Given the description of an element on the screen output the (x, y) to click on. 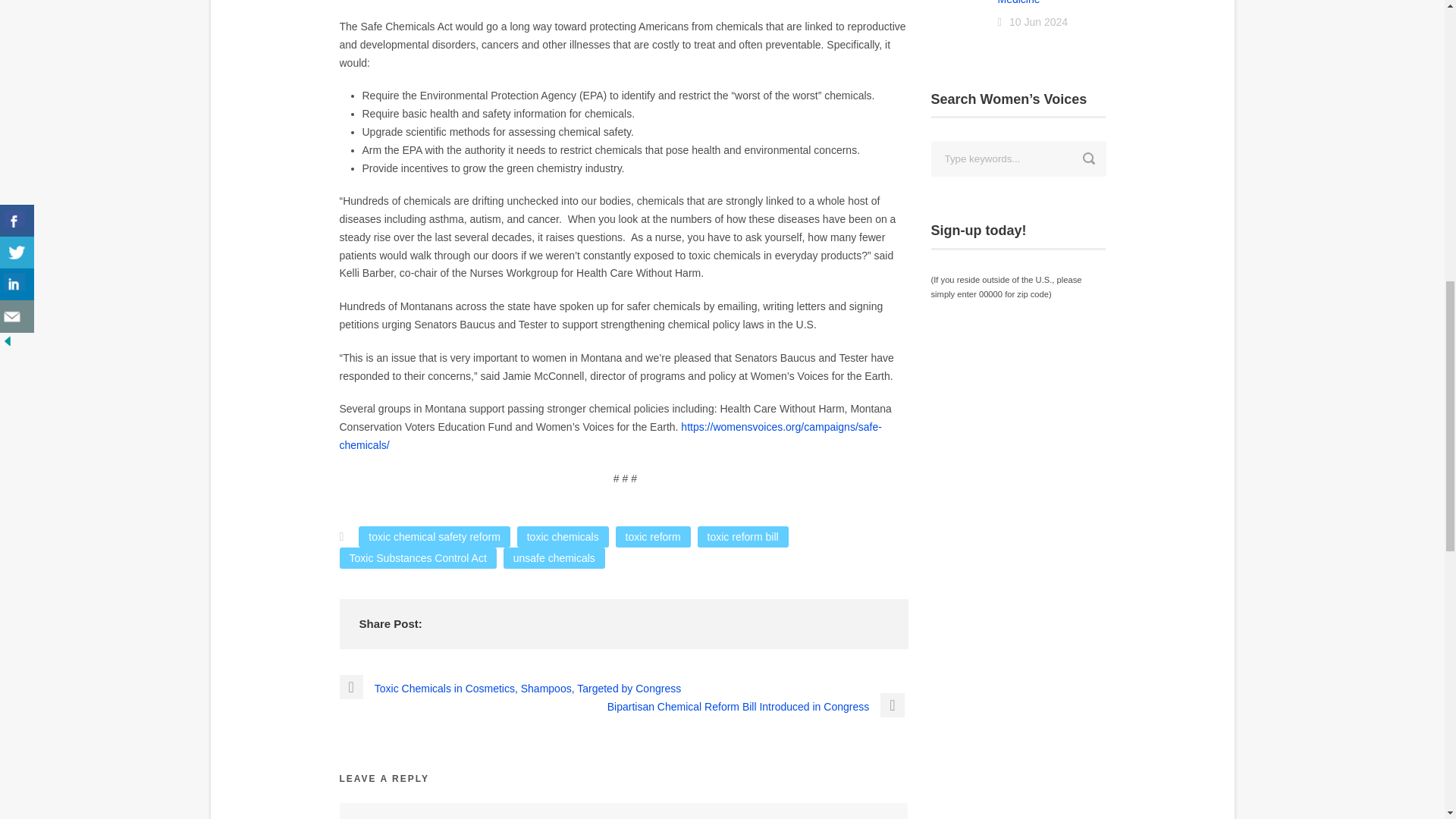
Type keywords... (1018, 158)
